Given the description of an element on the screen output the (x, y) to click on. 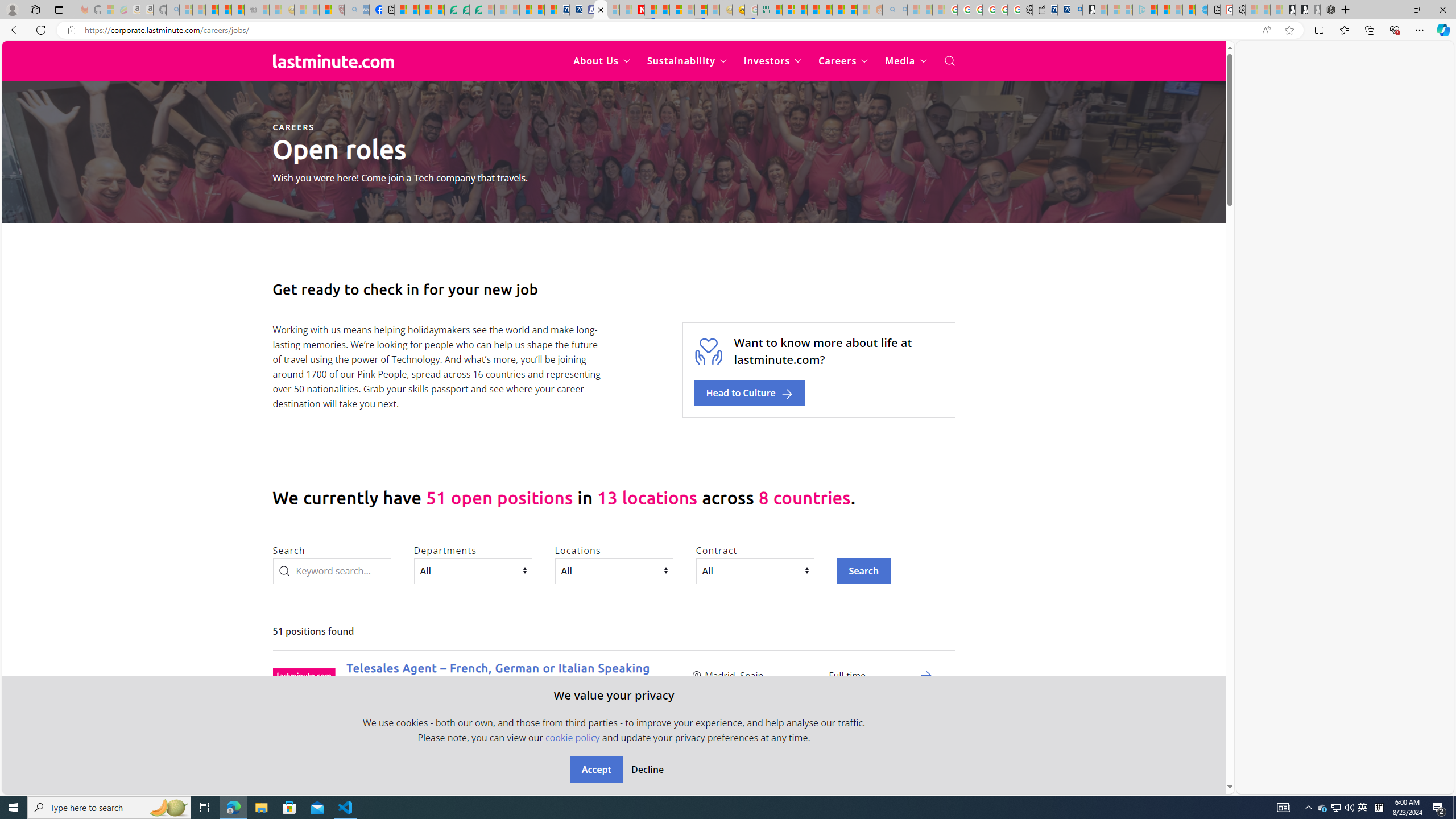
Close tab (600, 9)
Favorites (1344, 29)
Microsoft-Report a Concern to Bing - Sleeping (107, 9)
Utah sues federal government - Search - Sleeping (900, 9)
Search (864, 570)
Sustainability (686, 60)
View site information (70, 29)
Search (331, 570)
Microsoft Start Gaming (1088, 9)
App bar (728, 29)
Workspaces (34, 9)
NCL Adult Asthma Inhaler Choice Guideline - Sleeping (363, 9)
Play Free Online Games | Games from Microsoft Start (1289, 9)
